Given the description of an element on the screen output the (x, y) to click on. 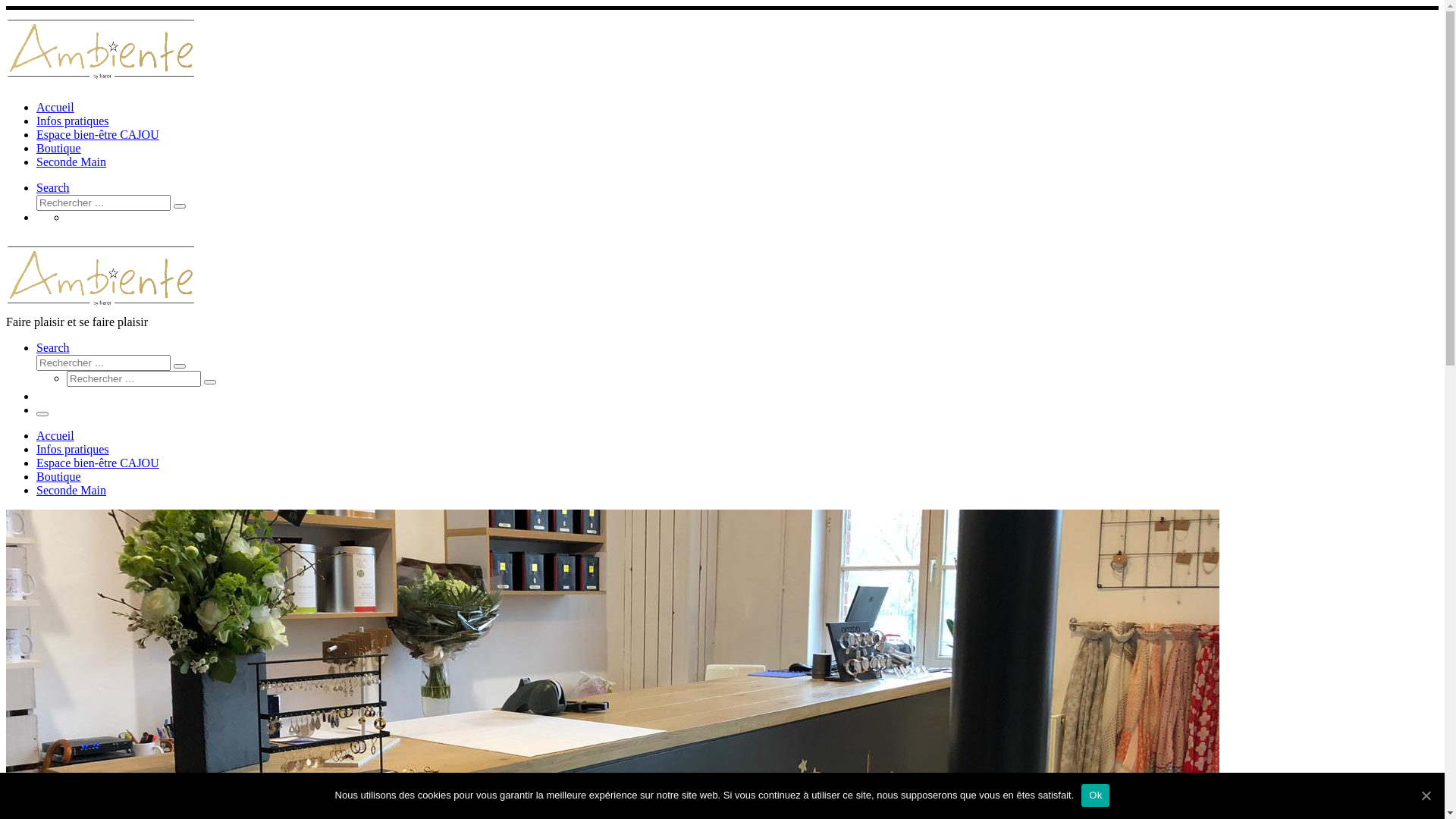
Seconde Main Element type: text (71, 161)
Ok Element type: text (1095, 795)
Skip to content Element type: text (6, 6)
Accueil Element type: text (55, 106)
Boutique Element type: text (58, 476)
Search Element type: text (52, 187)
Seconde Main Element type: text (71, 489)
Infos pratiques Element type: text (72, 120)
Boutique Element type: text (58, 147)
Accueil Element type: text (55, 435)
Menu Element type: text (42, 413)
Infos pratiques Element type: text (72, 448)
Search Element type: text (52, 347)
